Given the description of an element on the screen output the (x, y) to click on. 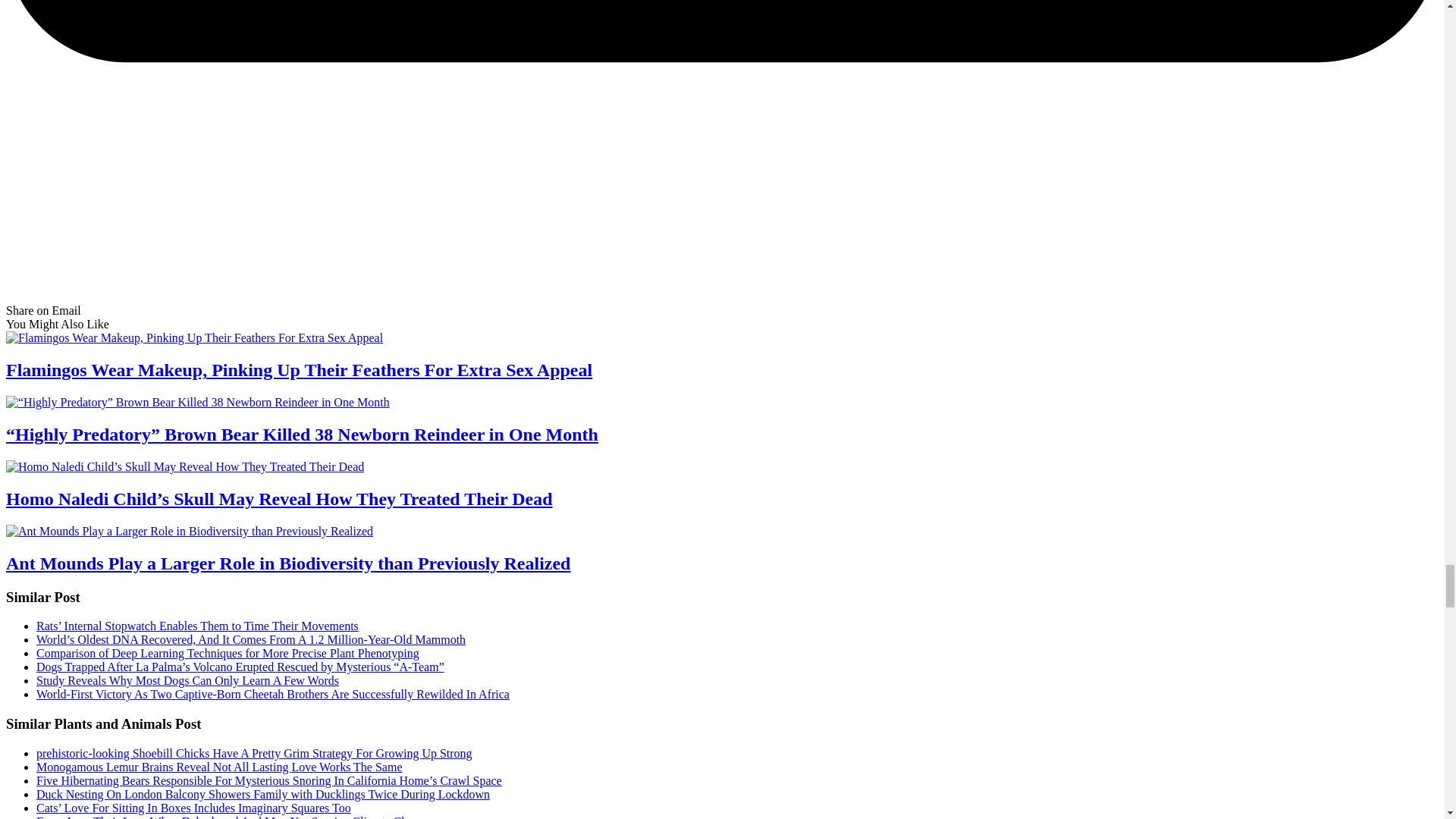
Study Reveals Why Most Dogs Can Only Learn A Few Words (187, 680)
